Given the description of an element on the screen output the (x, y) to click on. 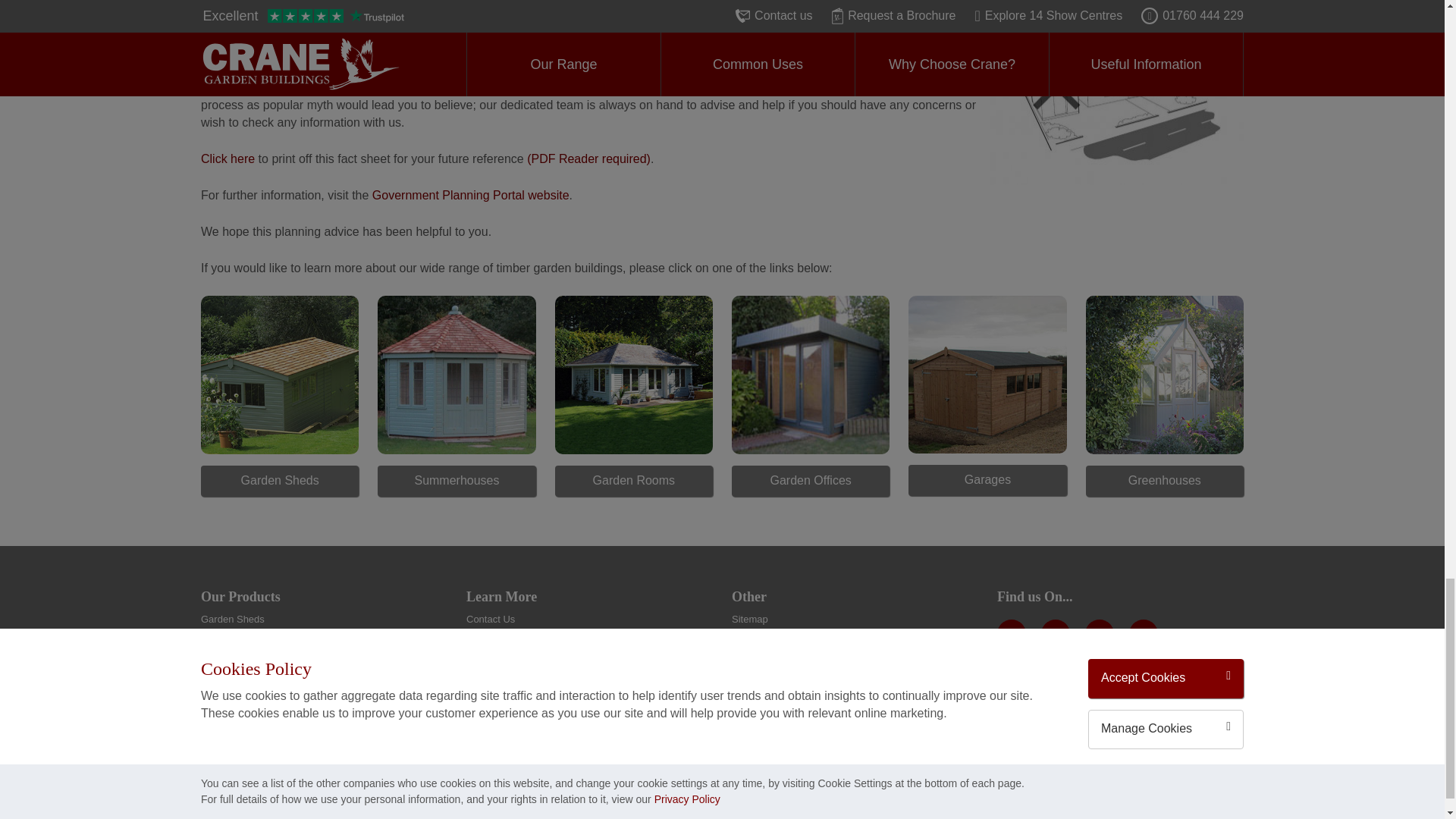
Customer reviews powered by Trustpilot (1120, 757)
